Given the description of an element on the screen output the (x, y) to click on. 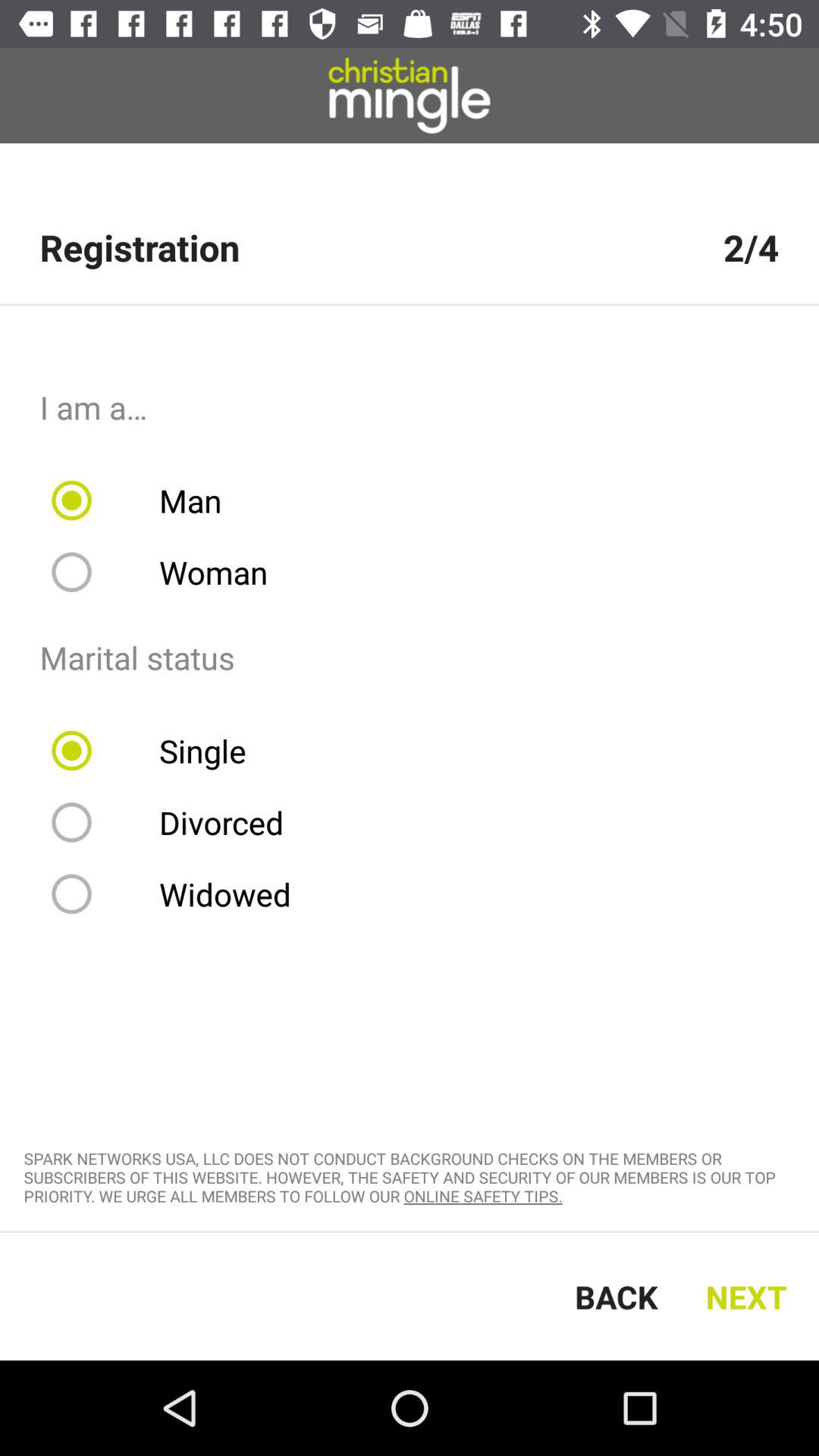
tap next item (750, 1296)
